Given the description of an element on the screen output the (x, y) to click on. 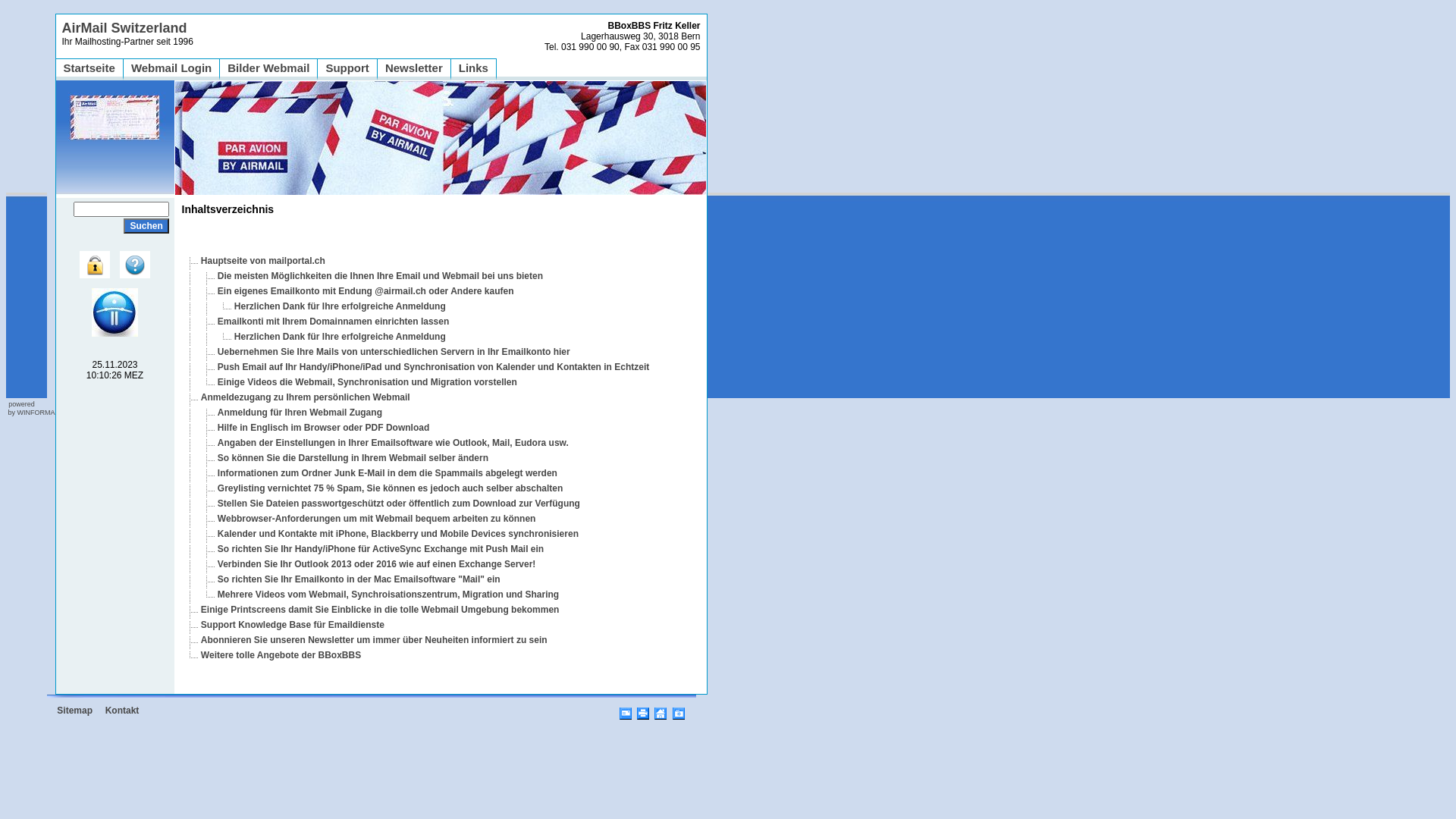
Support Element type: text (347, 67)
Sitemap Element type: text (74, 710)
Emailkonti mit Ihrem Domainnamen einrichten lassen Element type: text (332, 321)
Suchen Element type: text (145, 225)
Links Element type: text (473, 67)
Weitere tolle Angebote der BBoxBBS Element type: text (280, 654)
Startseite / Page Element type: hover (660, 710)
AirMail Switzerland Element type: text (124, 27)
powered
 by WINFORMA Element type: text (30, 408)
Hauptseite von mailportal.ch Element type: text (262, 260)
Bilder Webmail Element type: text (268, 67)
Hilfe in Englisch im Browser oder PDF Download Element type: text (323, 427)
Favoriten Element type: hover (678, 710)
Webmail Login Element type: text (171, 67)
Kontakt Element type: text (122, 710)
Startseite Element type: text (89, 67)
Newsletter Element type: text (413, 67)
